Given the description of an element on the screen output the (x, y) to click on. 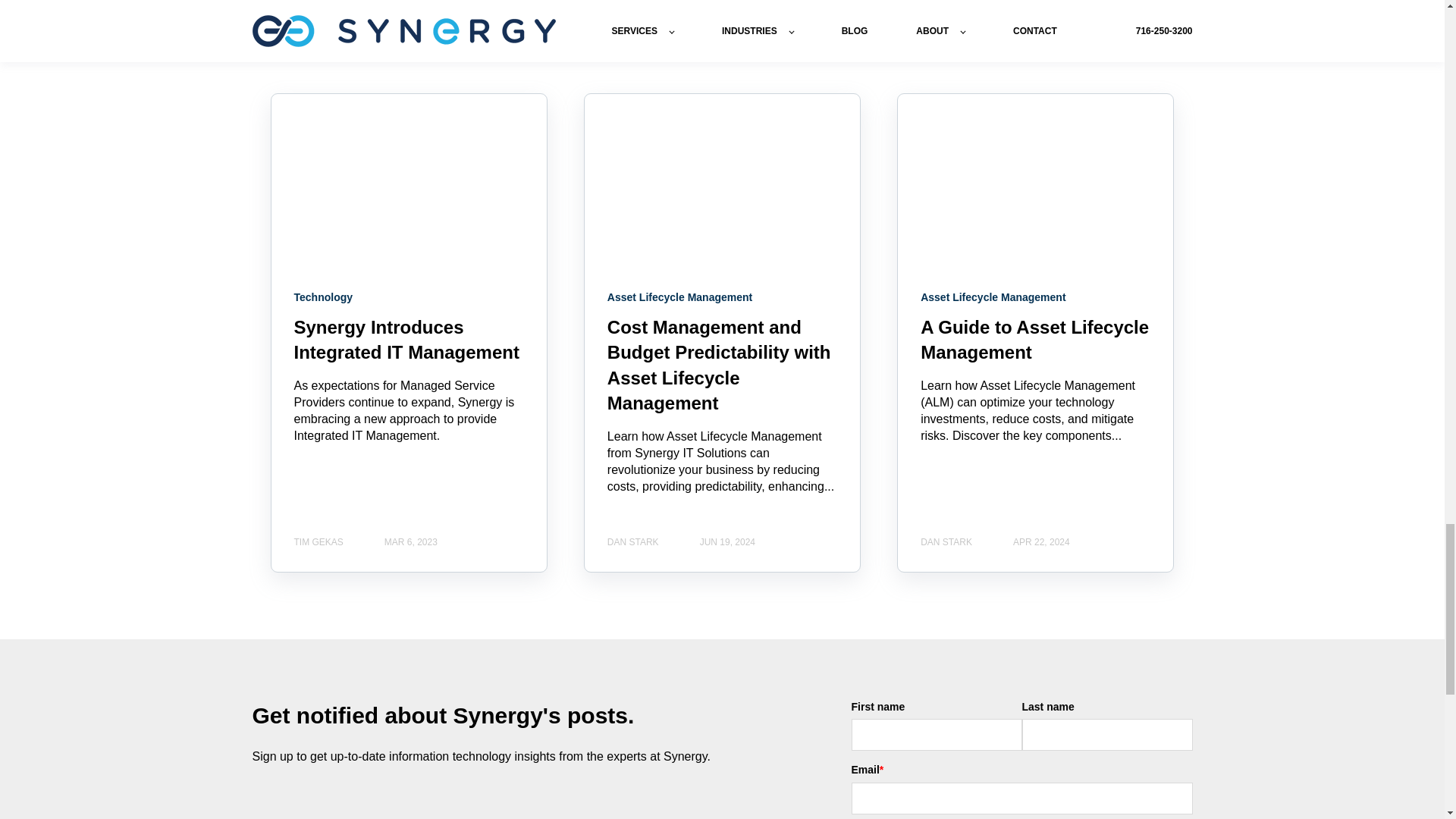
Synergy Introduces Integrated IT Management (406, 339)
A Guide to Asset Lifecycle Management (1034, 339)
